Given the description of an element on the screen output the (x, y) to click on. 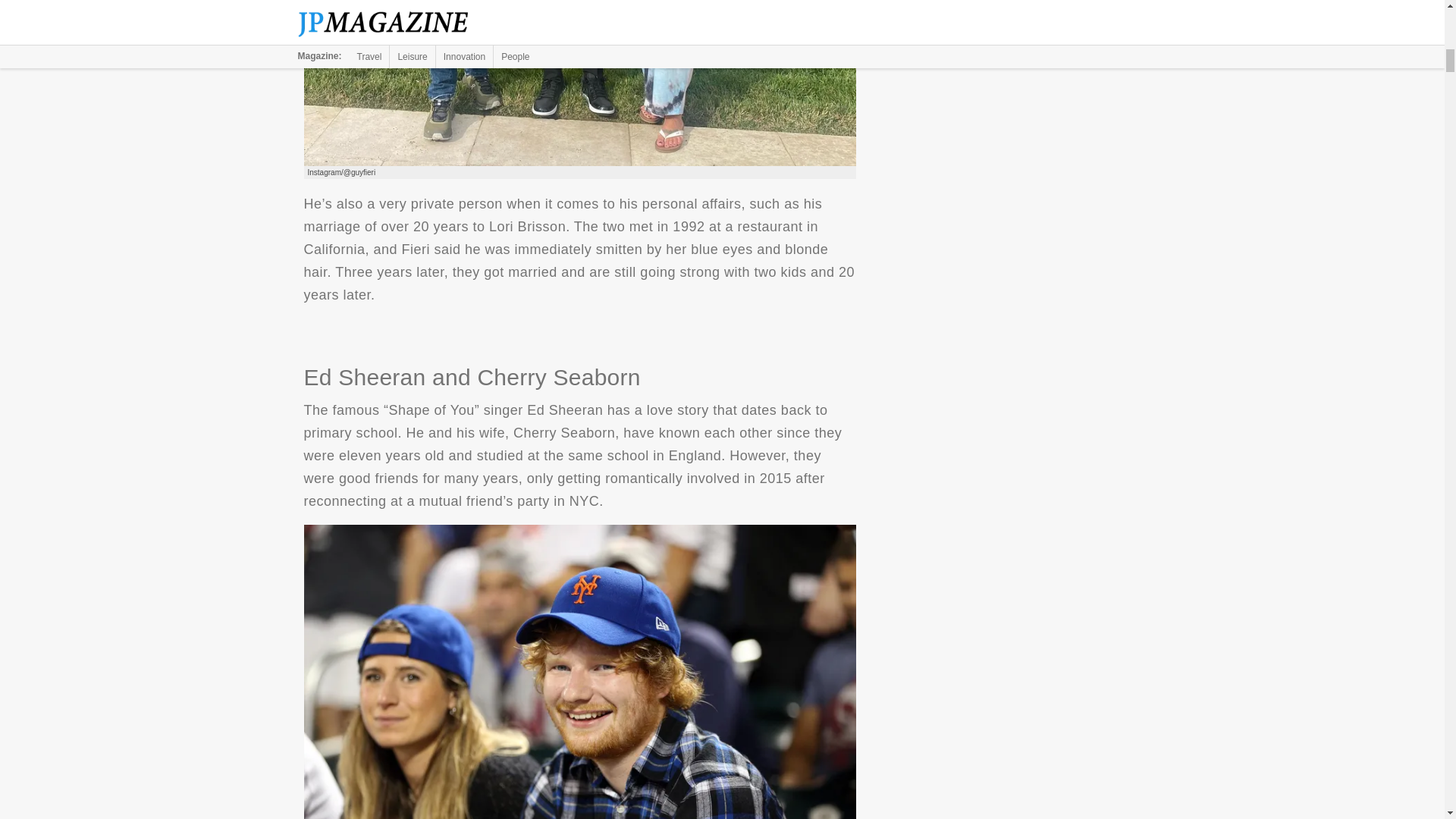
Guy Fieri and Lori Brisson (579, 83)
